Given the description of an element on the screen output the (x, y) to click on. 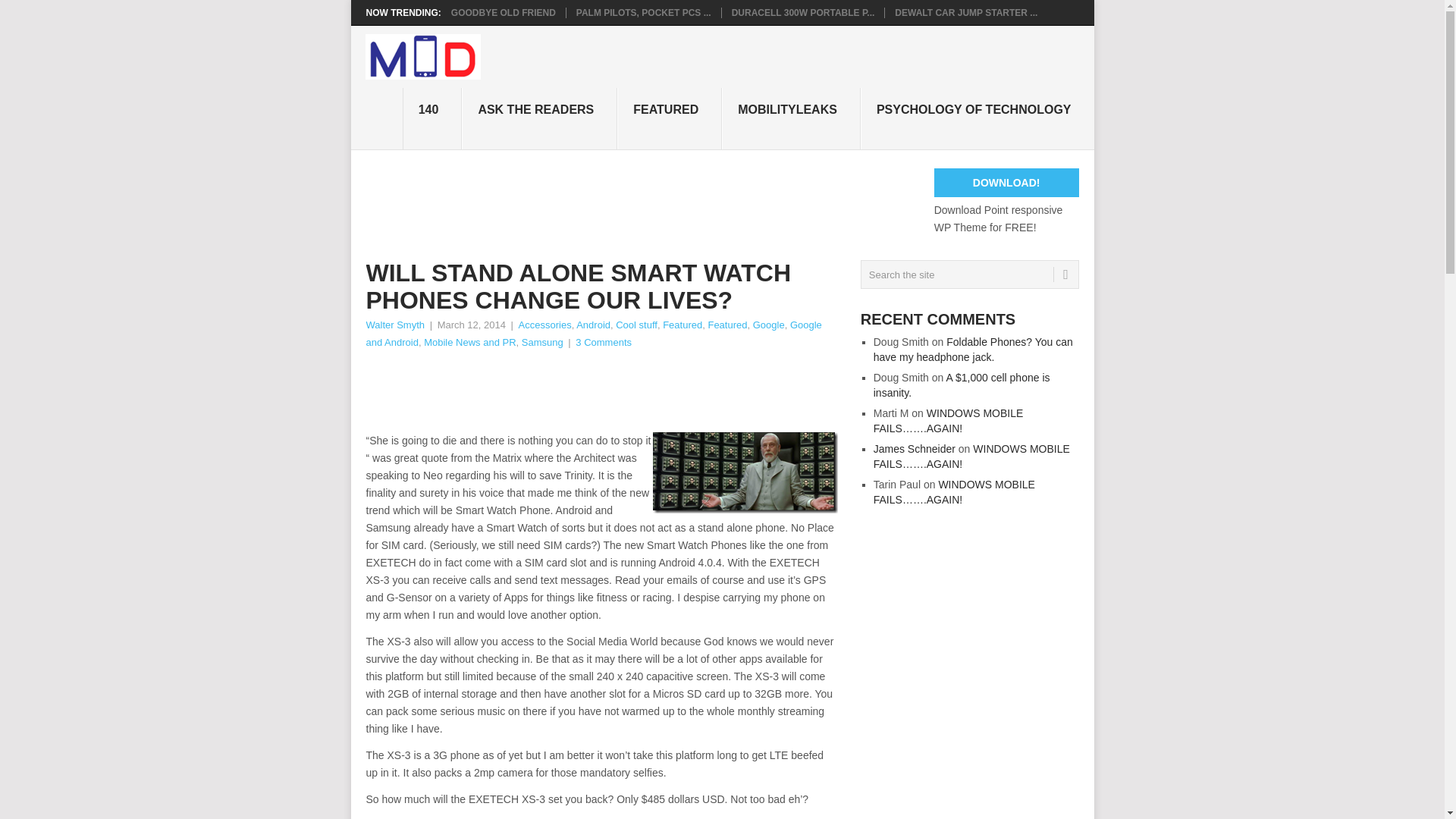
PALM PILOTS, POCKET PCS ... (643, 12)
140 (433, 118)
Mobile News and PR (469, 342)
Featured (726, 324)
Samsung (542, 342)
the-architect (745, 472)
Advertisement (641, 202)
Goodbye Old Friend (503, 12)
DOWNLOAD! (1006, 182)
PSYCHOLOGY OF TECHNOLOGY (977, 118)
